Given the description of an element on the screen output the (x, y) to click on. 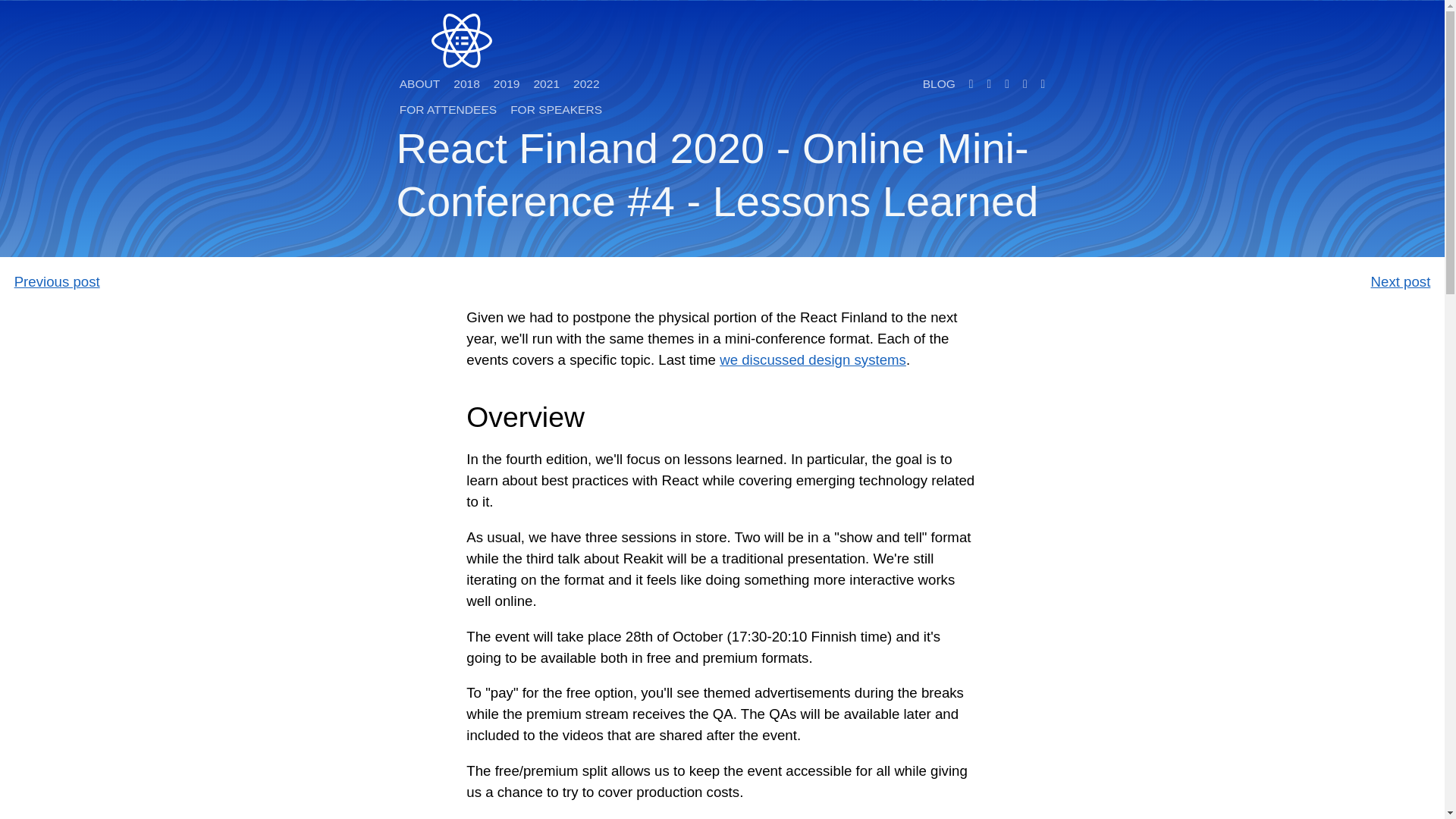
Previous post (57, 281)
2019 (506, 83)
we discussed design systems (812, 359)
2018 (466, 83)
FOR SPEAKERS (555, 109)
2022 (586, 83)
FOR ATTENDEES (448, 109)
2021 (545, 83)
BLOG (938, 83)
Next post (1401, 281)
ABOUT (419, 83)
